Given the description of an element on the screen output the (x, y) to click on. 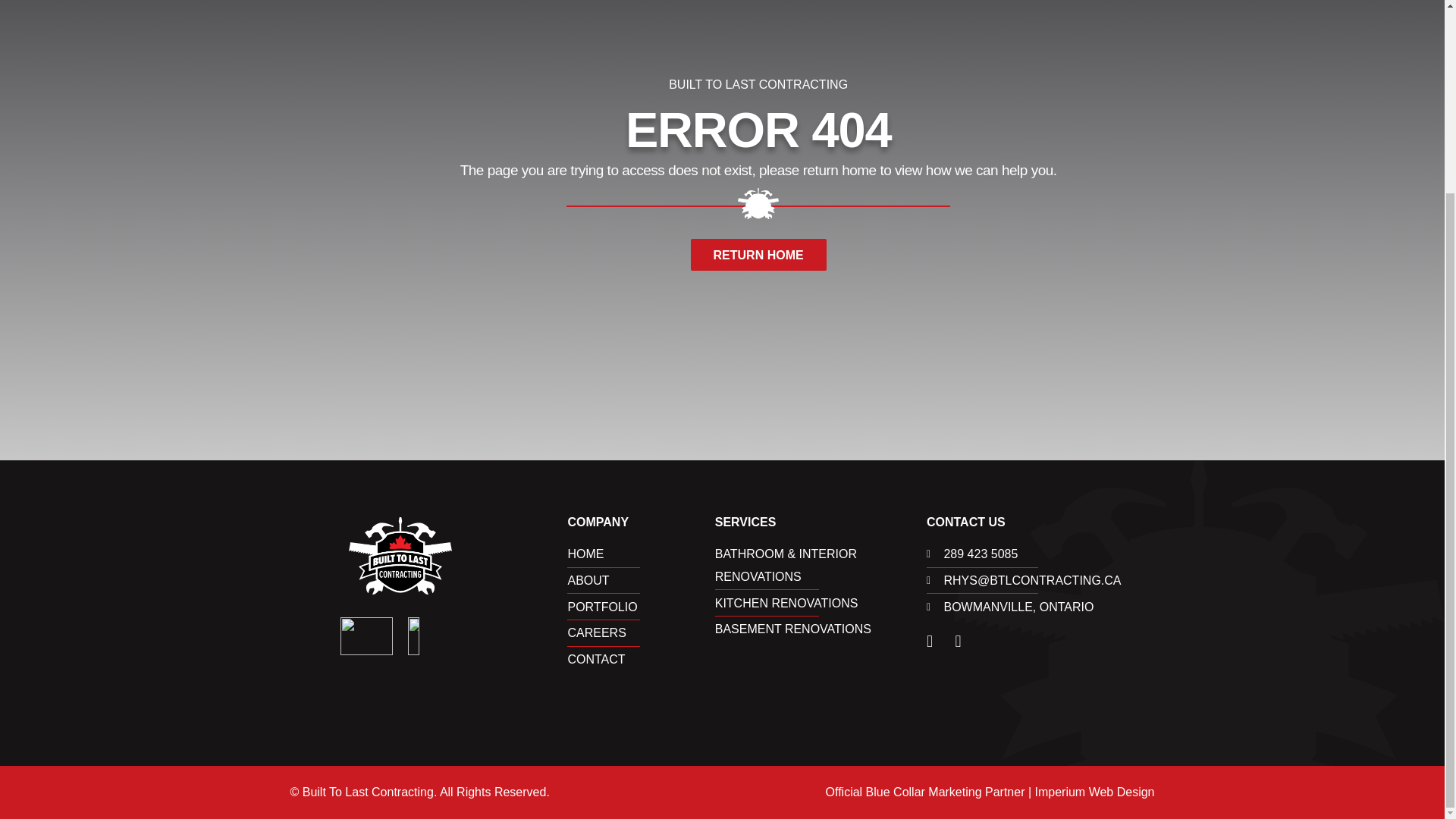
BASEMENT RENOVATIONS (820, 629)
HOME (640, 553)
PORTFOLIO (640, 607)
ABOUT (640, 580)
RETURN HOME (758, 255)
CONTACT (640, 659)
Official Blue Collar Marketing Partner (925, 791)
CAREERS (640, 632)
BOWMANVILLE, ONTARIO (1040, 607)
289 423 5085 (1040, 553)
KITCHEN RENOVATIONS (820, 603)
